Given the description of an element on the screen output the (x, y) to click on. 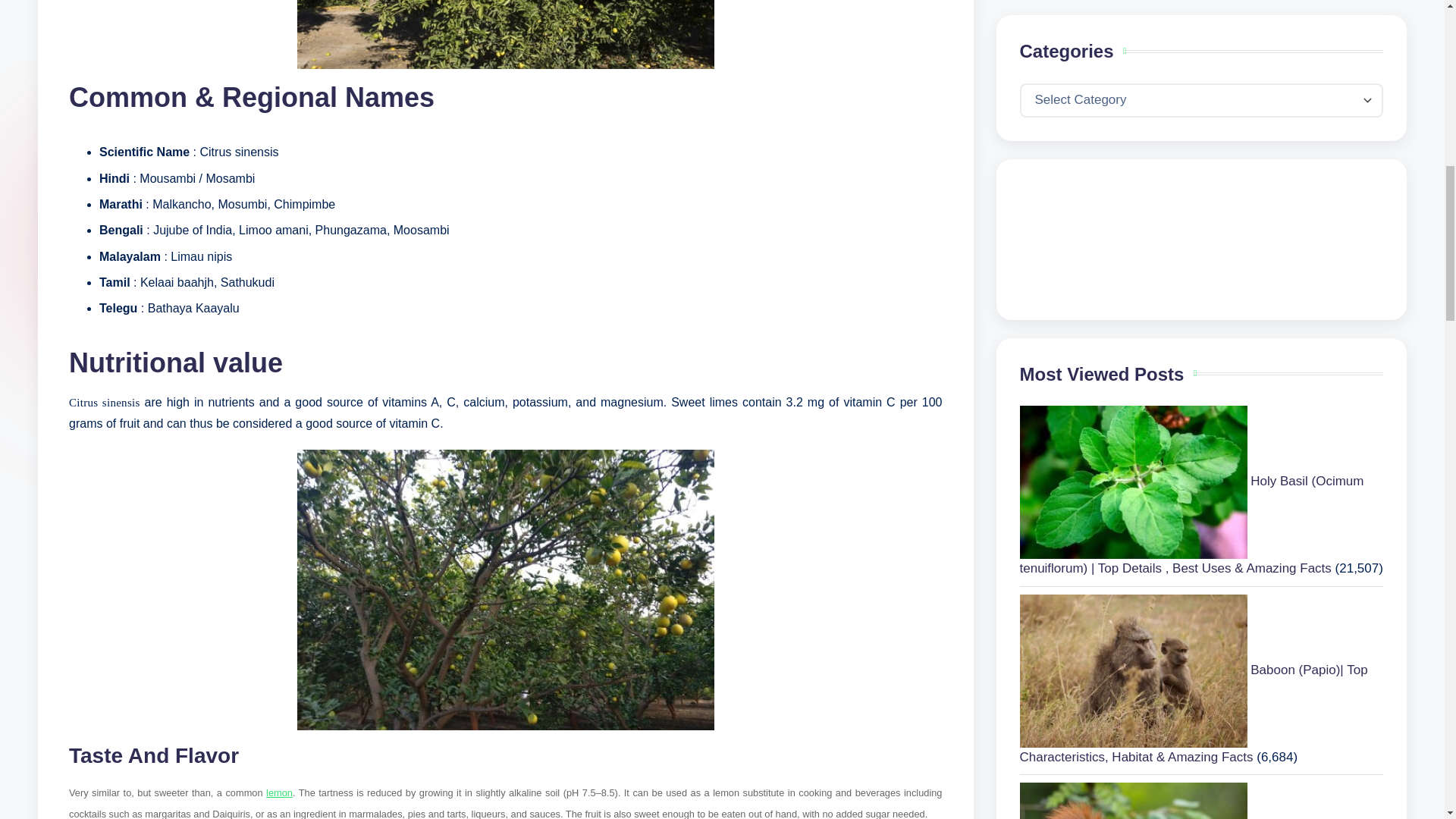
lemon (279, 792)
